Given the description of an element on the screen output the (x, y) to click on. 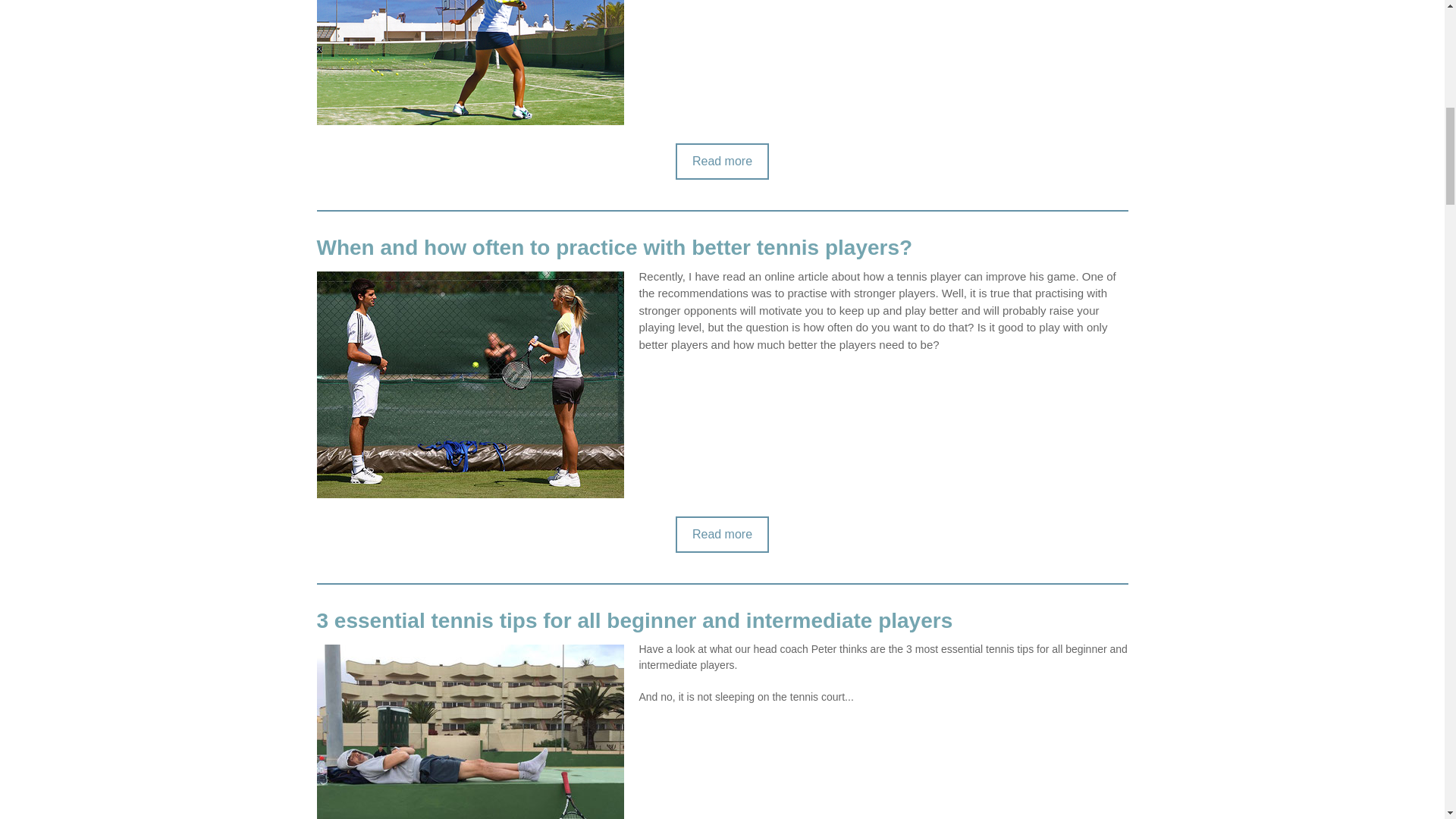
Read more (721, 534)
Read more (721, 161)
